Given the description of an element on the screen output the (x, y) to click on. 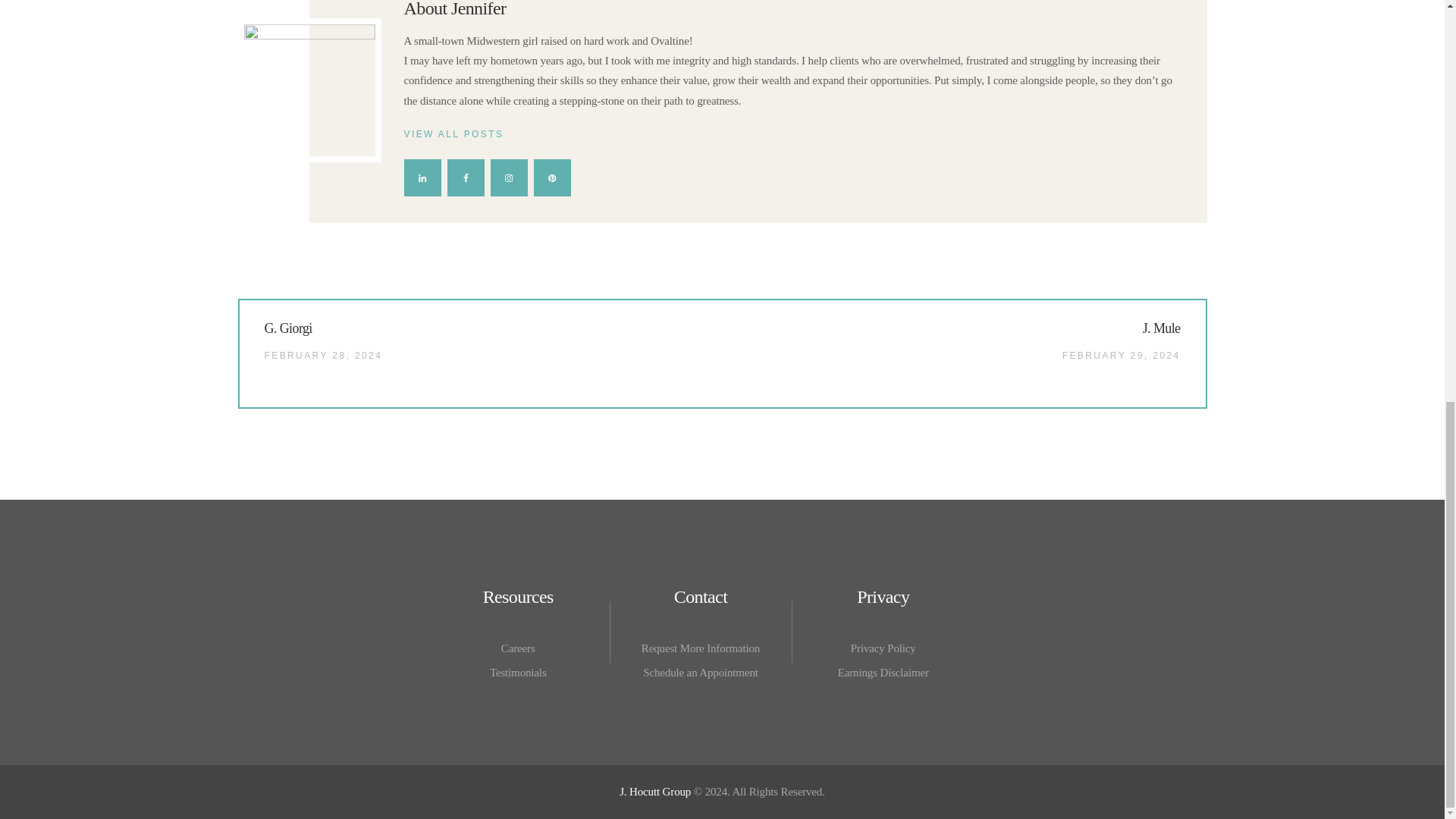
VIEW ALL POSTS (791, 134)
